Given the description of an element on the screen output the (x, y) to click on. 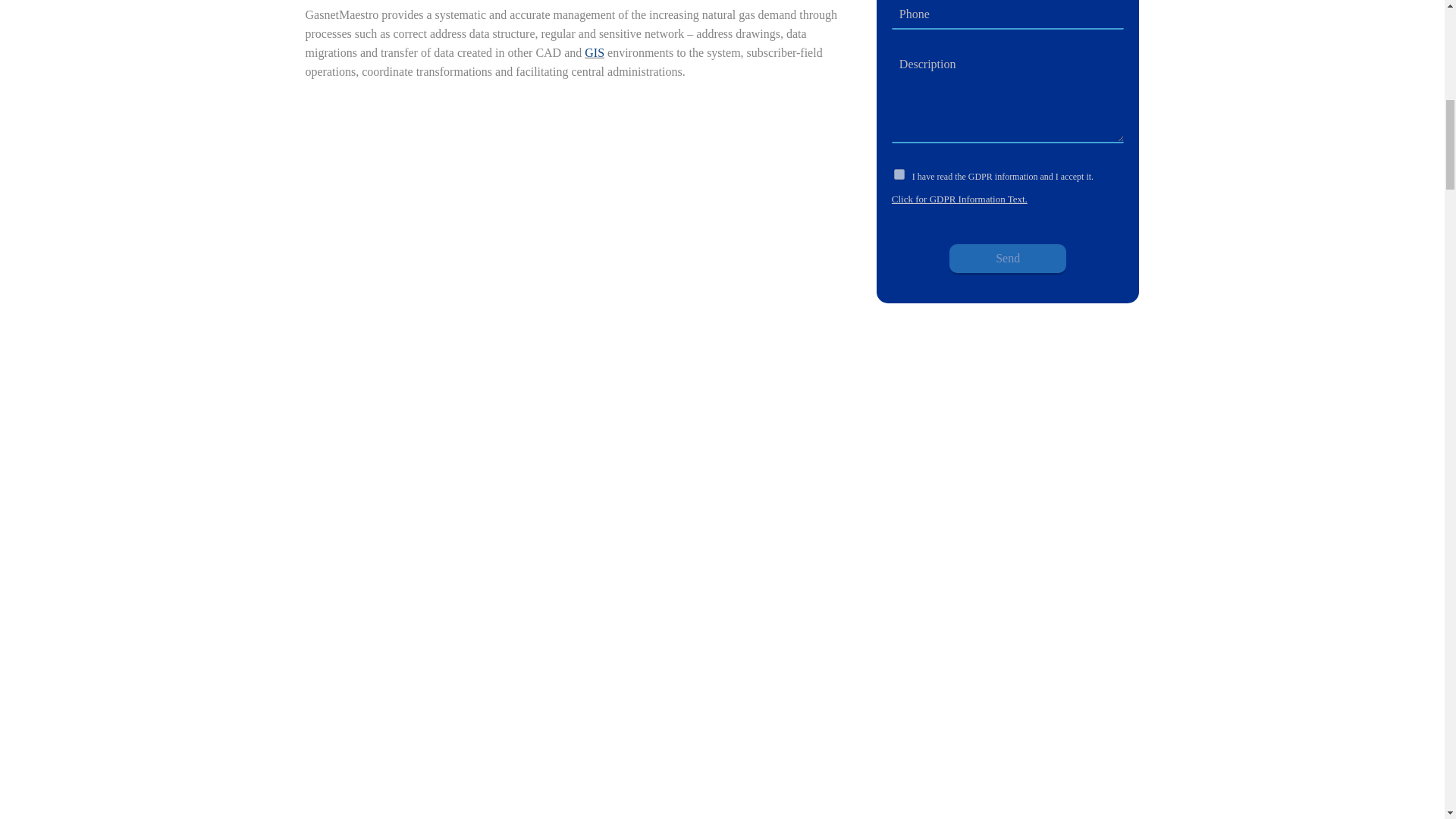
I have read the GDPR information and I accept it. (898, 173)
